Given the description of an element on the screen output the (x, y) to click on. 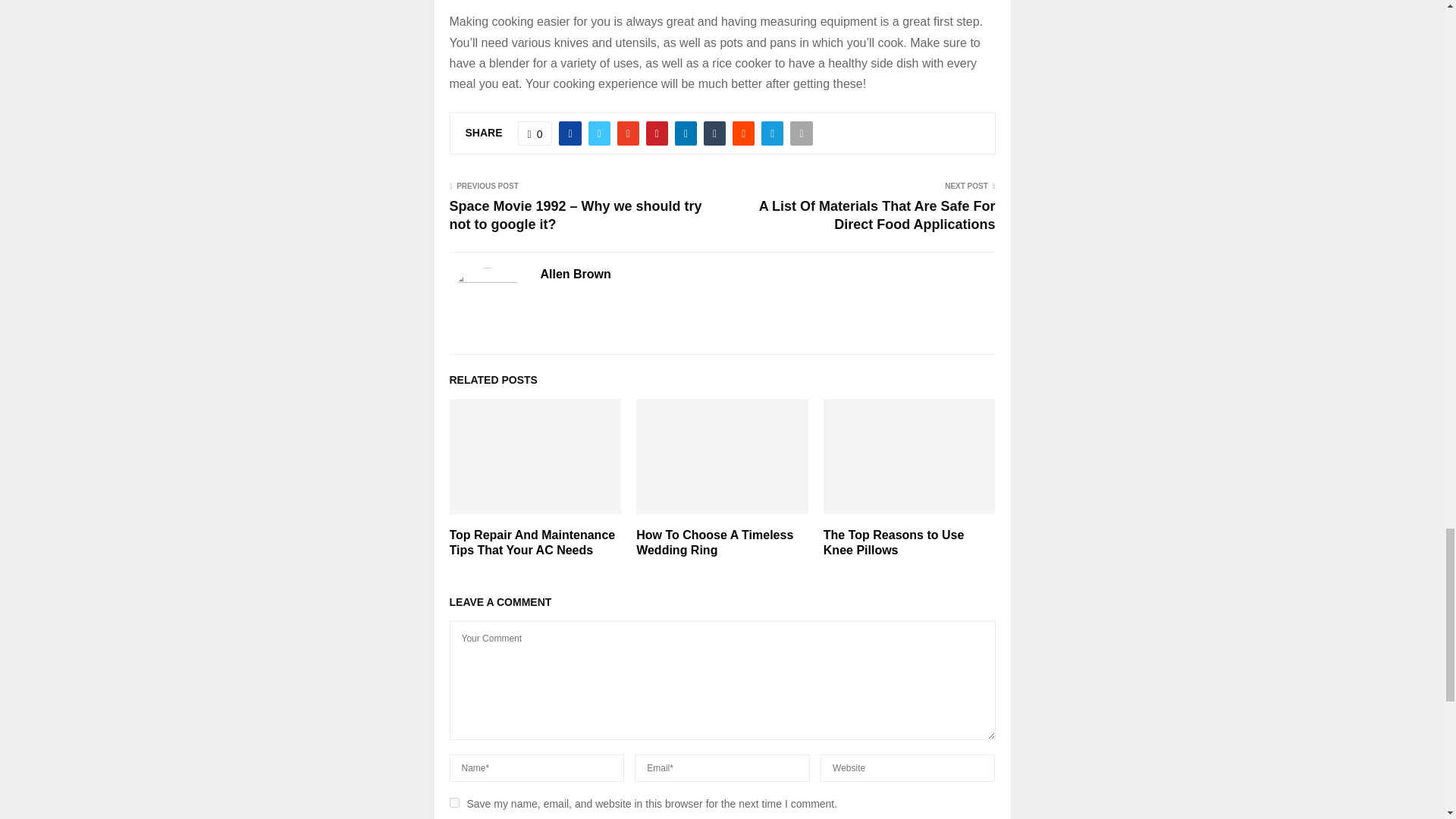
yes (453, 802)
Like (535, 133)
Posts by Allen Brown (575, 274)
